Given the description of an element on the screen output the (x, y) to click on. 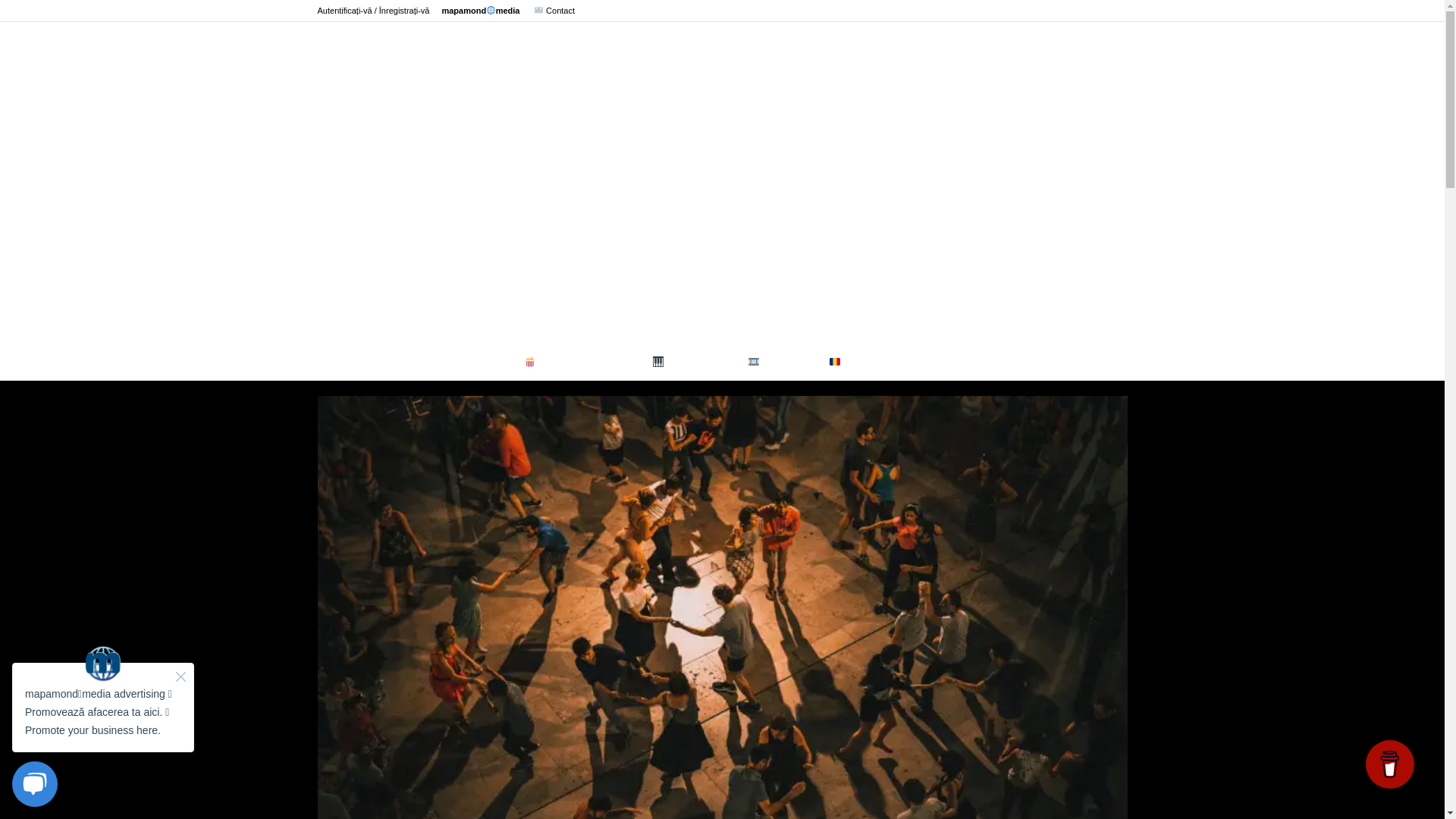
FILME (777, 361)
DIVERTISMENT (577, 361)
mapamondmedia (480, 10)
Contact (554, 10)
CONCERTE (689, 361)
